Given the description of an element on the screen output the (x, y) to click on. 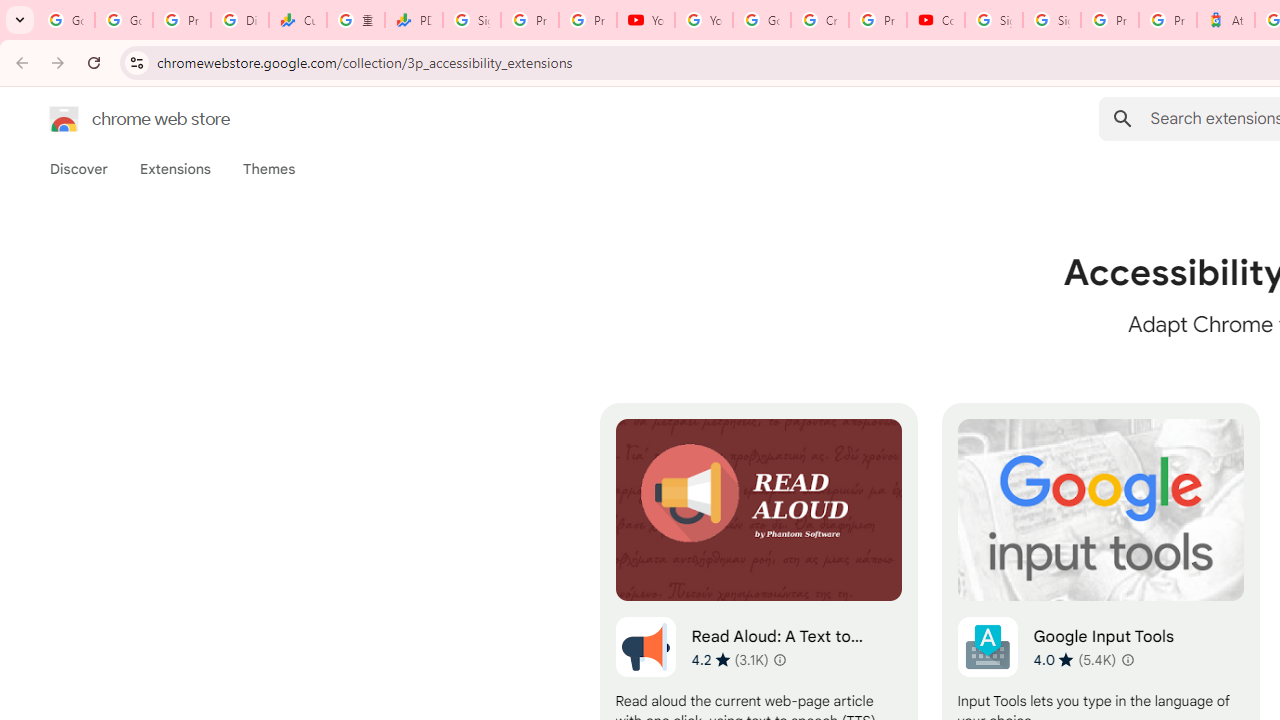
Themes (269, 169)
Currencies - Google Finance (297, 20)
Chrome Web Store logo (63, 118)
Content Creator Programs & Opportunities - YouTube Creators (936, 20)
YouTube (703, 20)
YouTube (645, 20)
Chrome Web Store logo chrome web store (118, 118)
Average rating 4.0 out of 5 stars. 5.4K ratings. (1074, 659)
Google Account Help (762, 20)
Discover (79, 169)
